Given the description of an element on the screen output the (x, y) to click on. 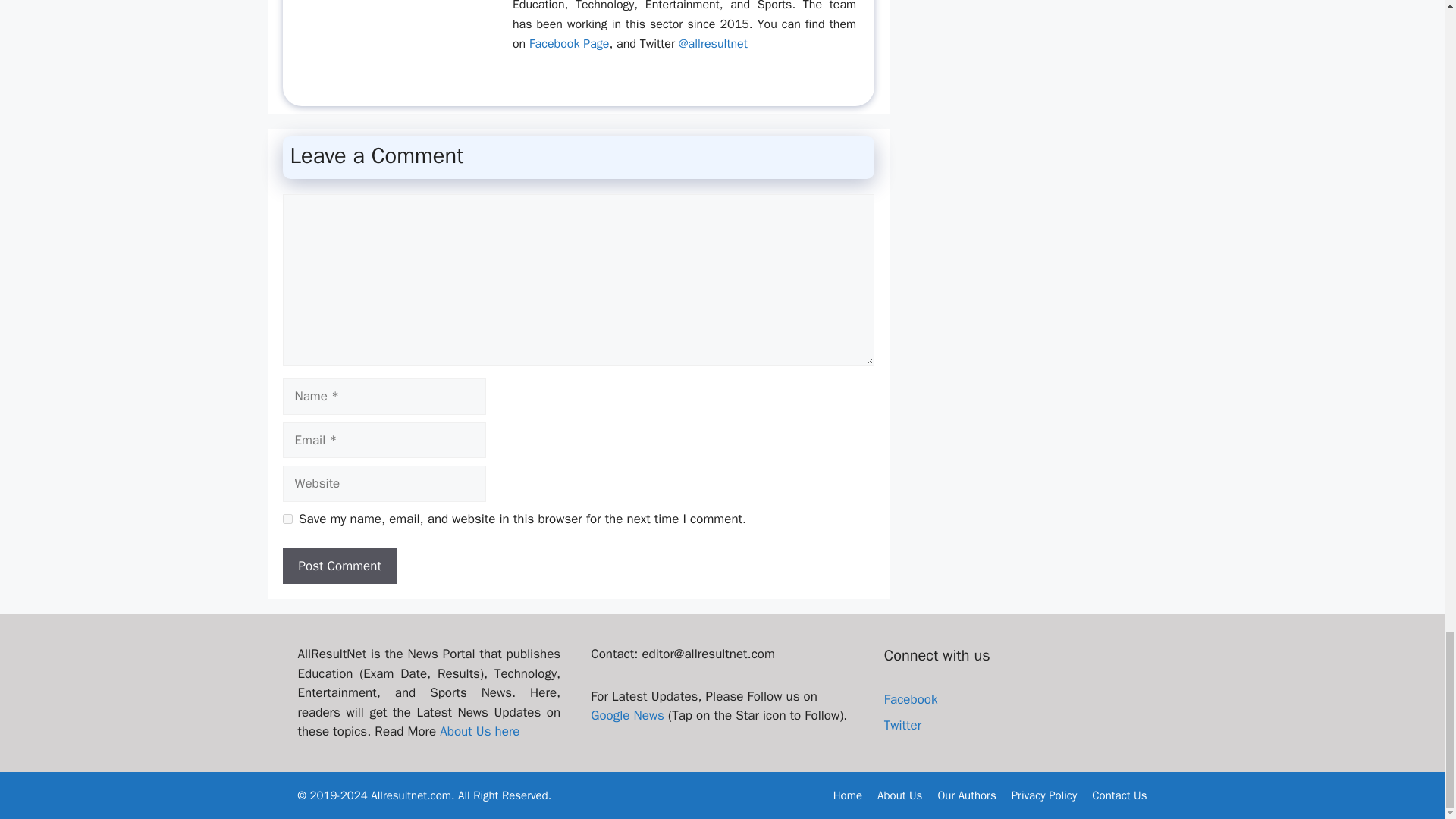
Google News (627, 715)
Facebook (910, 699)
Facebook Page (568, 43)
Post Comment (339, 565)
Post Comment (339, 565)
yes (287, 519)
About Us here (479, 731)
